Given the description of an element on the screen output the (x, y) to click on. 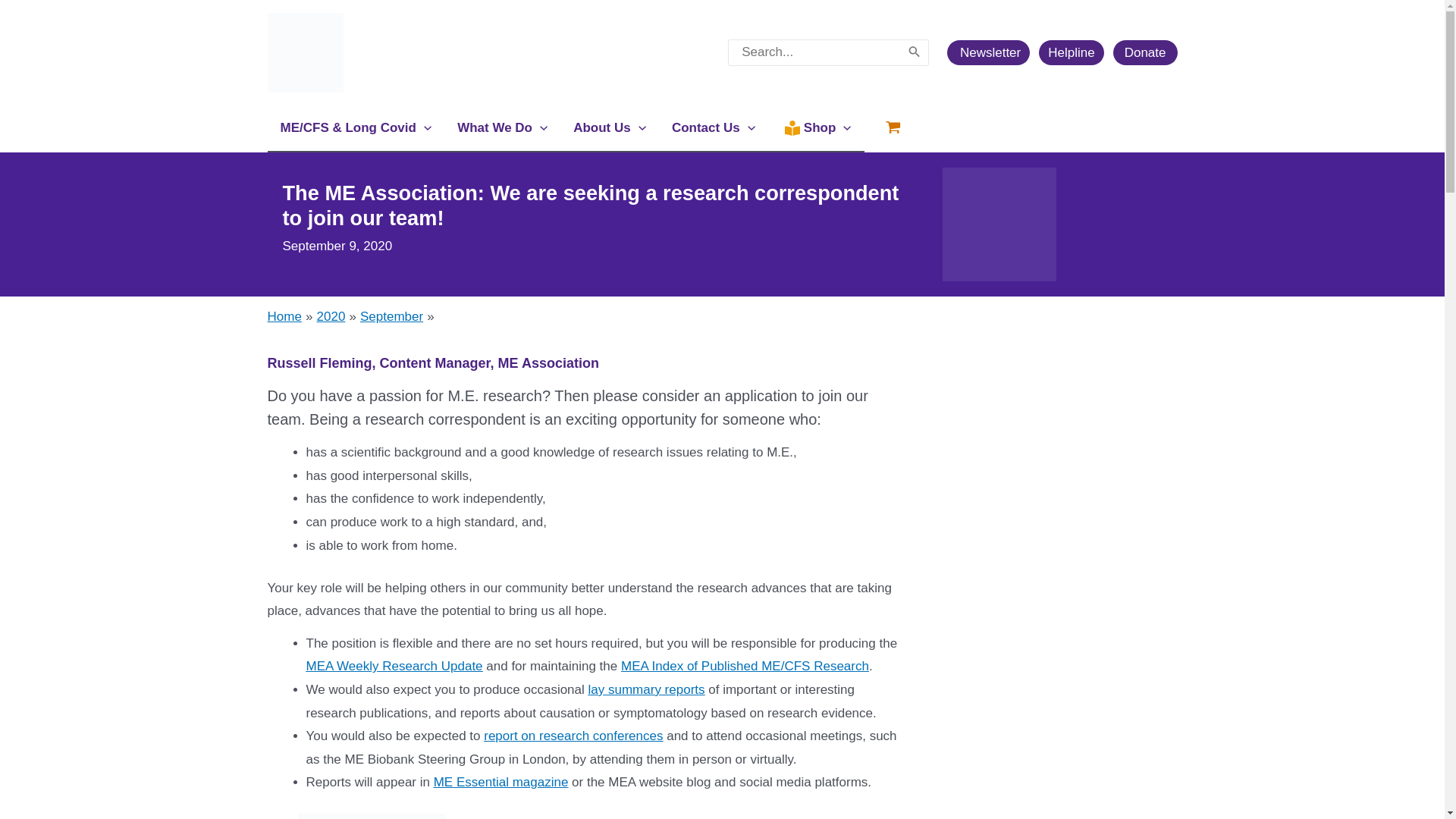
Donate (1145, 51)
Helpline (1071, 52)
Newsletter (993, 51)
Donate (1145, 52)
Helpline (1075, 51)
Newsletter (988, 52)
What We Do (502, 127)
